Given the description of an element on the screen output the (x, y) to click on. 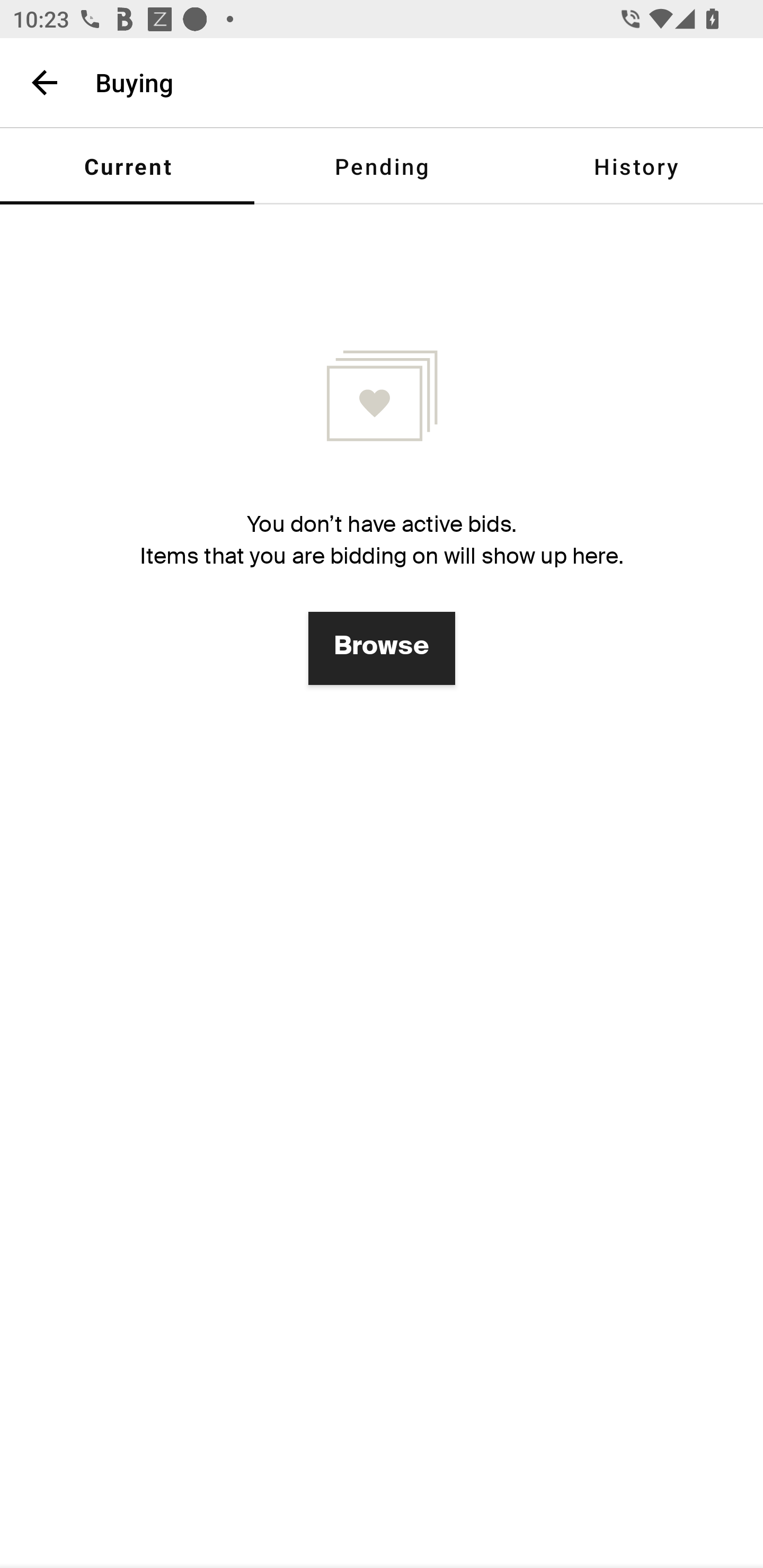
Navigate up (44, 82)
Pending (381, 165)
History (635, 165)
Browse (381, 647)
